Given the description of an element on the screen output the (x, y) to click on. 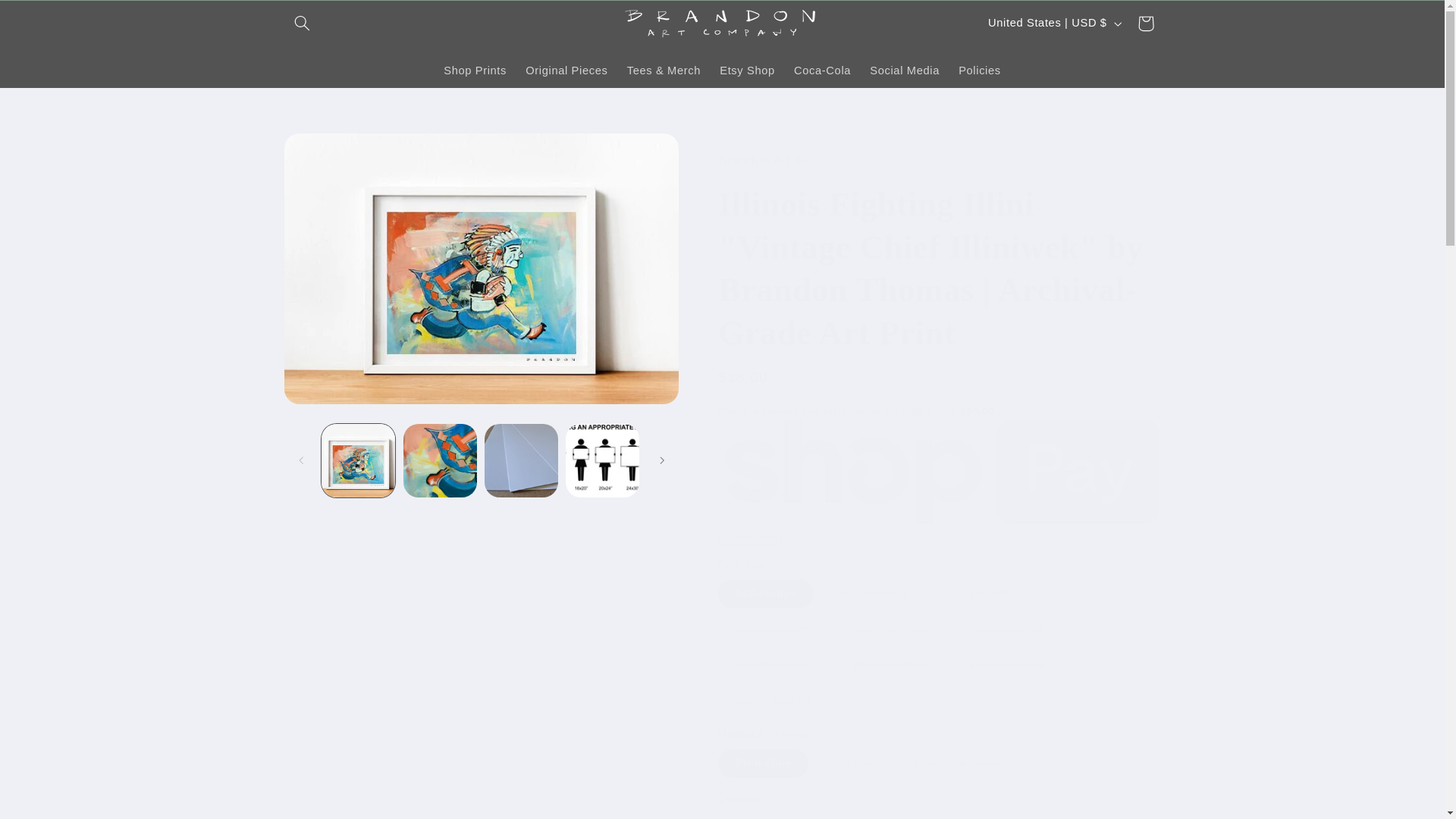
1 (771, 815)
Shop Prints (474, 70)
Open media 1 in modal (480, 268)
Coca-Cola (822, 70)
Etsy Shop (747, 70)
Skip to product information (331, 150)
Original Pieces (566, 70)
Social Media (904, 70)
Skip to content (48, 18)
